Given the description of an element on the screen output the (x, y) to click on. 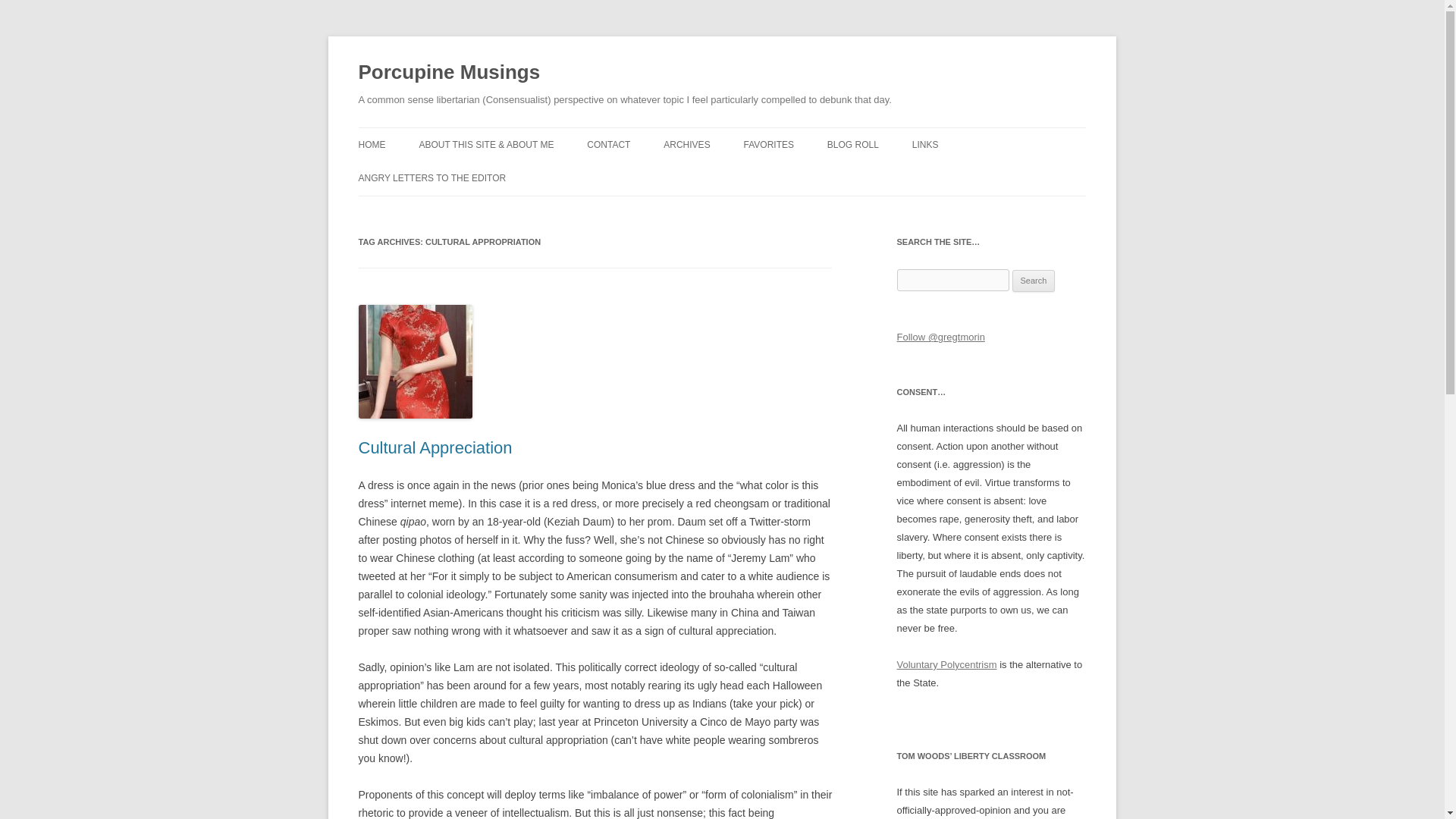
BOB MURPHY (902, 176)
Search (1033, 281)
ANGRY LETTERS TO THE EDITOR (431, 177)
THE DEBATE THAT NEVER HAPPENED (819, 185)
Cultural Appreciation (435, 447)
FAVORITES (768, 144)
CONTACT (608, 144)
THE BOB MURPHY SHOW (988, 176)
ARCHIVES (686, 144)
